Given the description of an element on the screen output the (x, y) to click on. 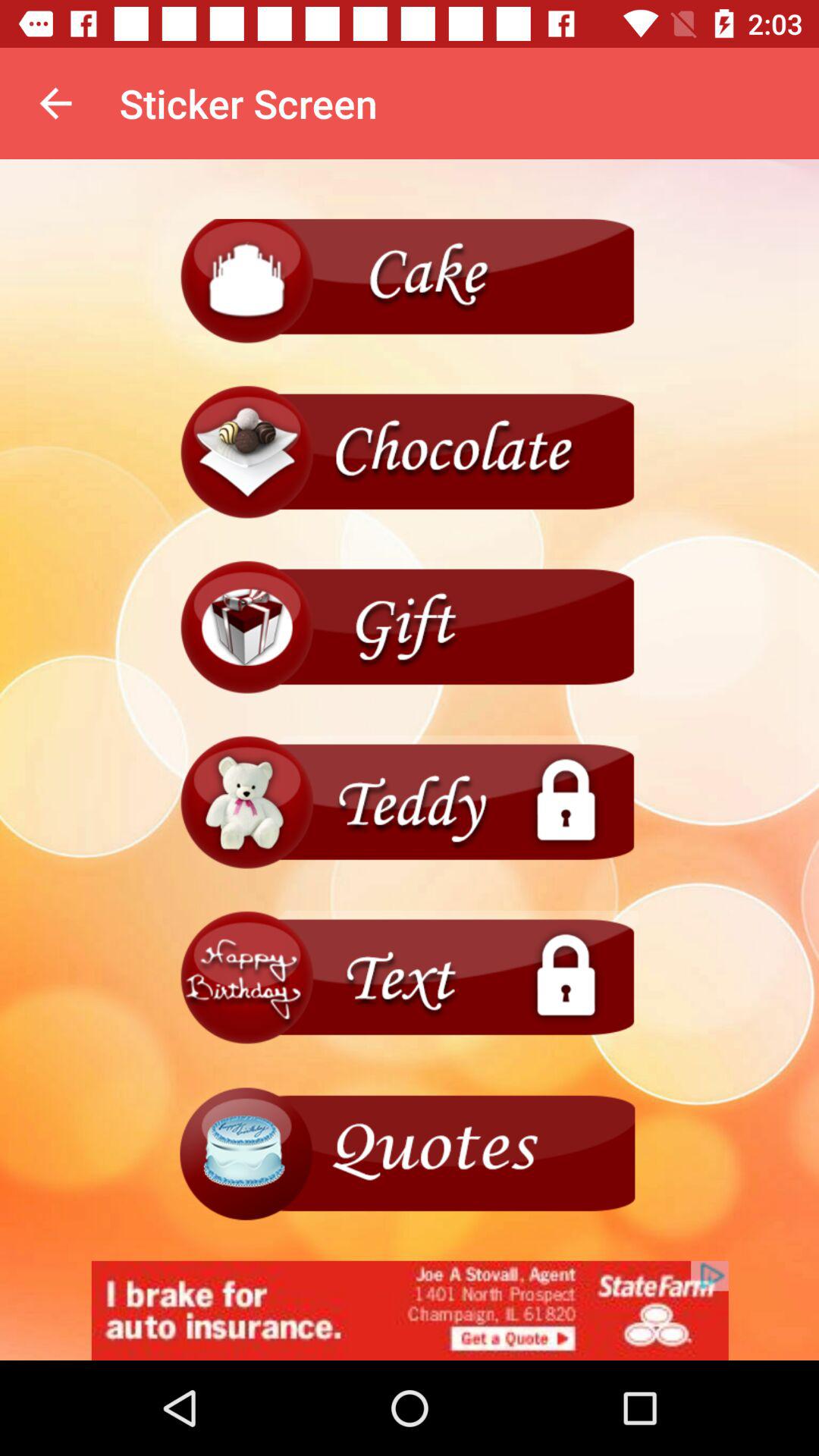
advertisement link (409, 1310)
